Given the description of an element on the screen output the (x, y) to click on. 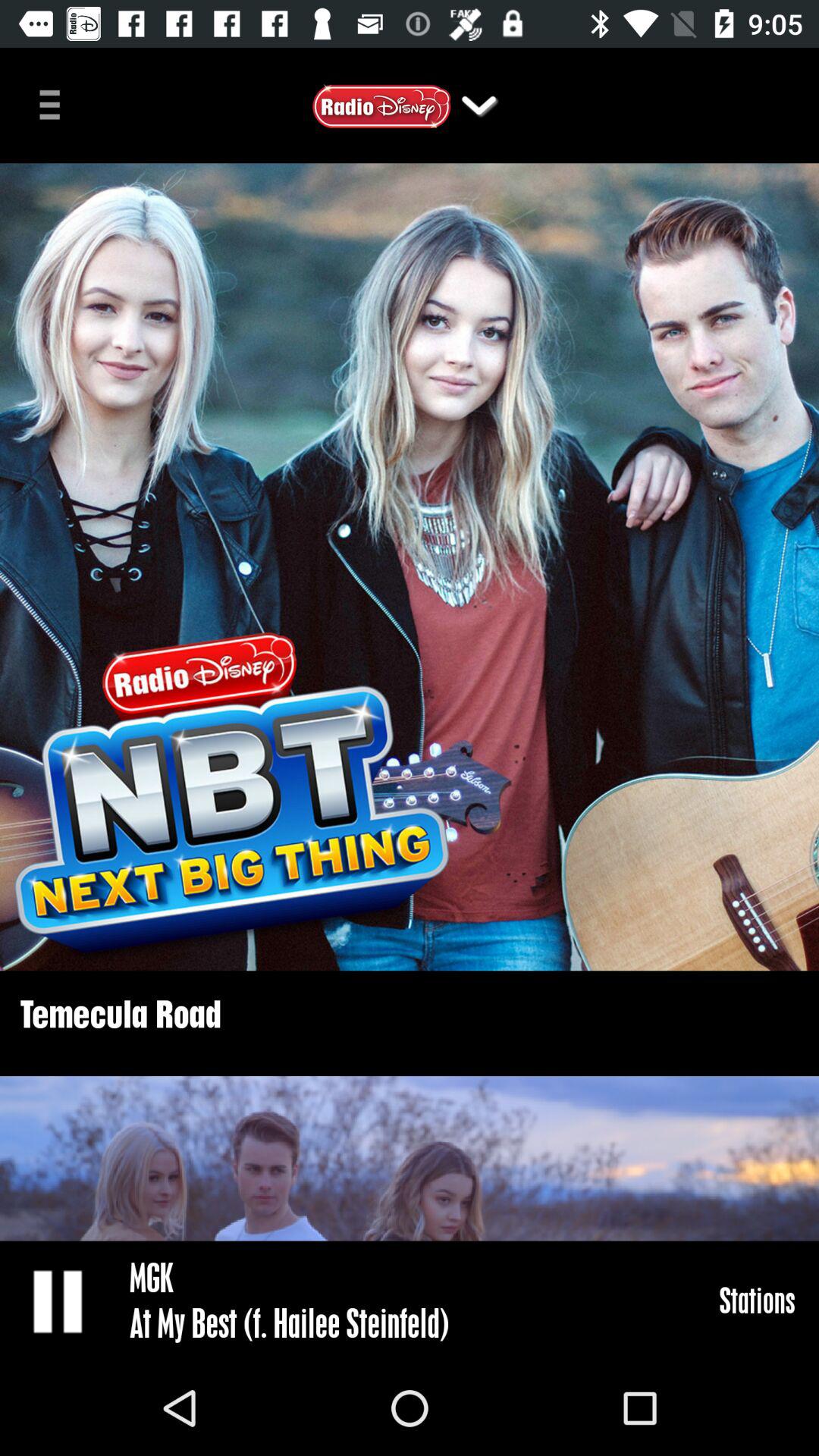
open item above temecula road (409, 566)
